Given the description of an element on the screen output the (x, y) to click on. 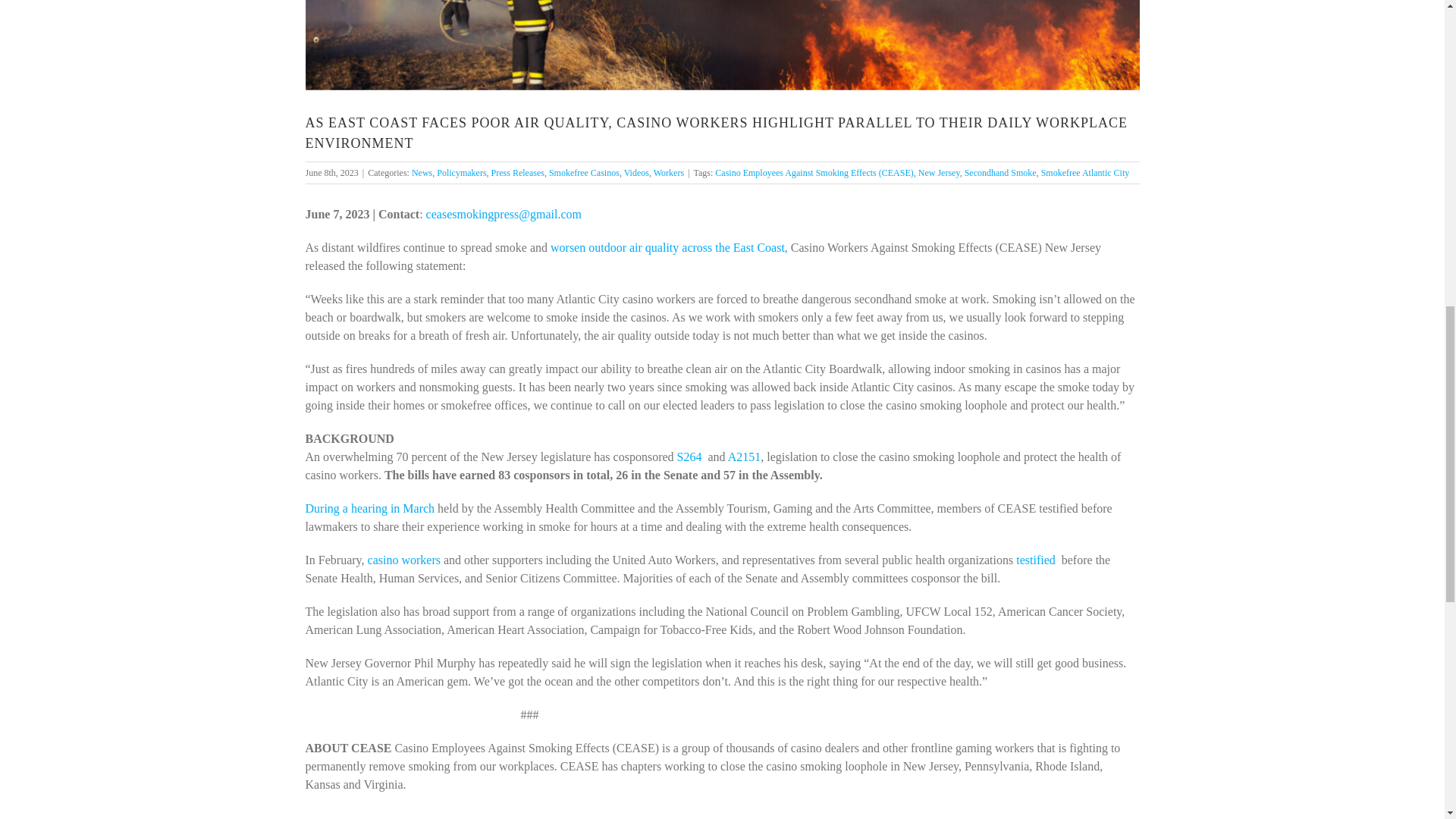
Secondhand Smoke (999, 172)
News (422, 172)
Press Releases (518, 172)
Workers (668, 172)
New Jersey (938, 172)
Policymakers (461, 172)
View Larger Image (721, 45)
Videos (636, 172)
Smokefree Atlantic City (1085, 172)
Smokefree Casinos (584, 172)
